Given the description of an element on the screen output the (x, y) to click on. 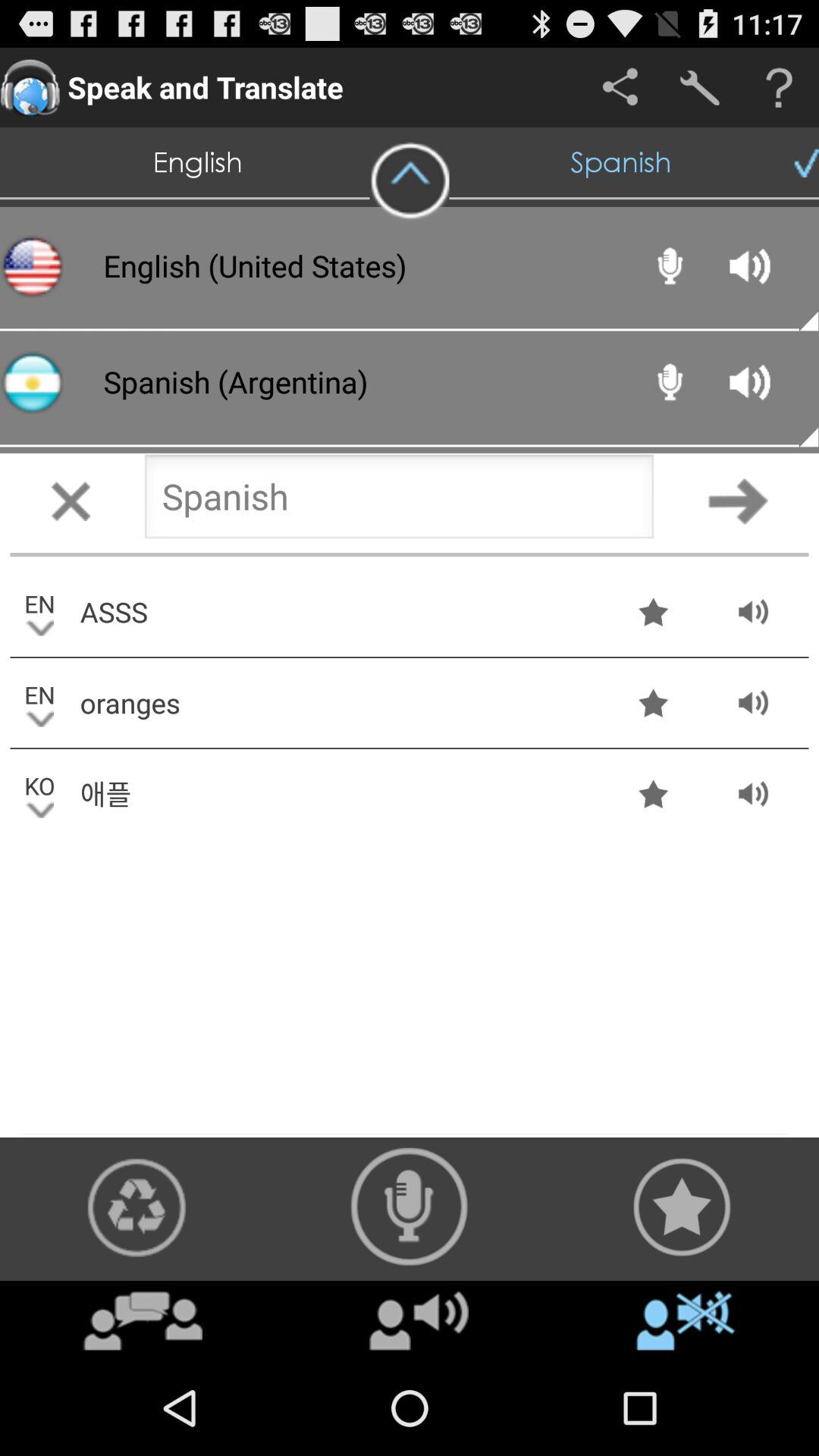
click on the audio recorder (409, 1206)
